Given the description of an element on the screen output the (x, y) to click on. 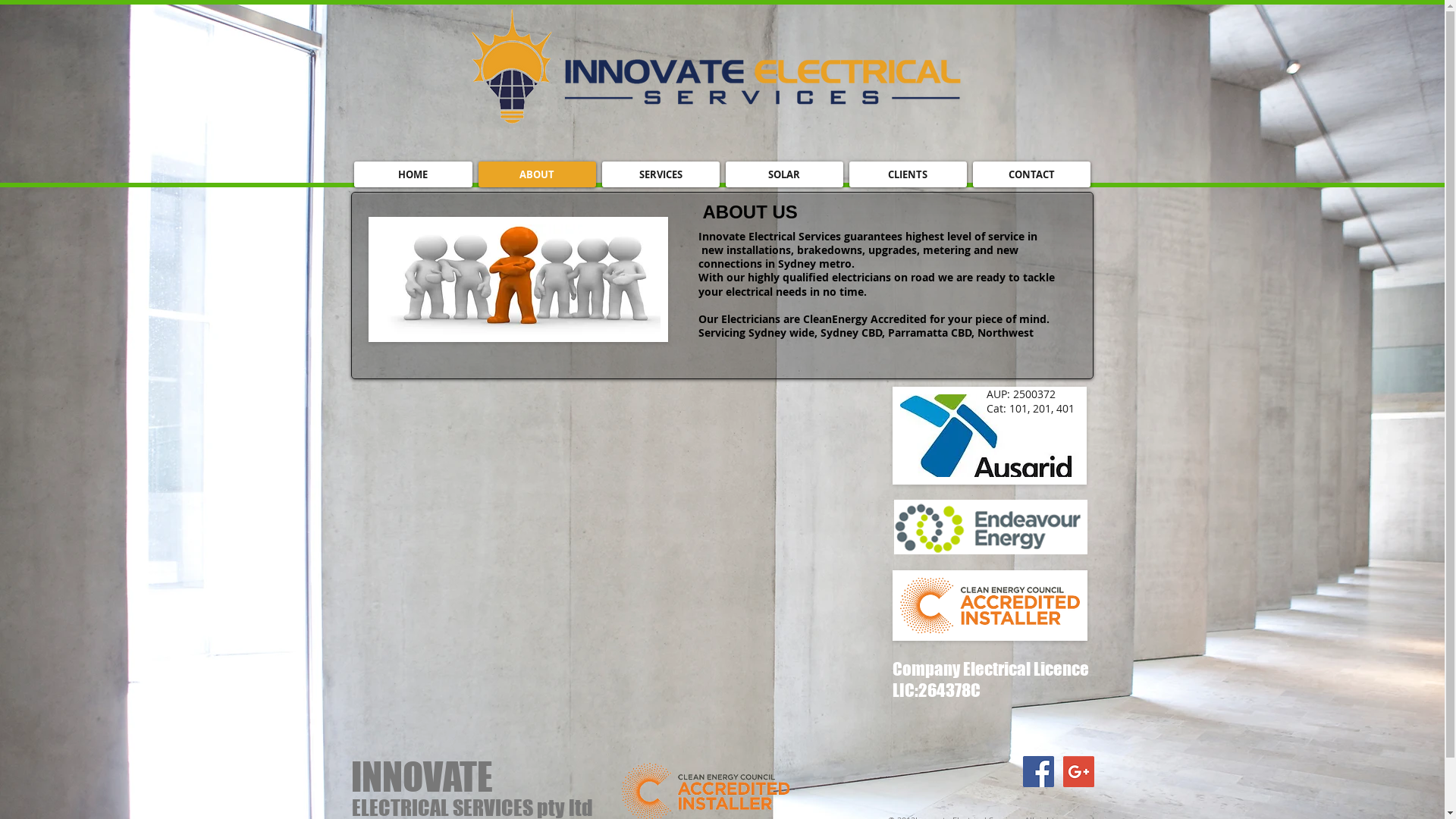
INNOVATE Element type: text (421, 776)
HOME Element type: text (412, 174)
CLIENTS Element type: text (907, 174)
ABOUT Element type: text (536, 174)
cec-logo-accr.png Element type: hover (988, 605)
CONTACT Element type: text (1030, 174)
SERVICES Element type: text (660, 174)
SOLAR Element type: text (783, 174)
